Given the description of an element on the screen output the (x, y) to click on. 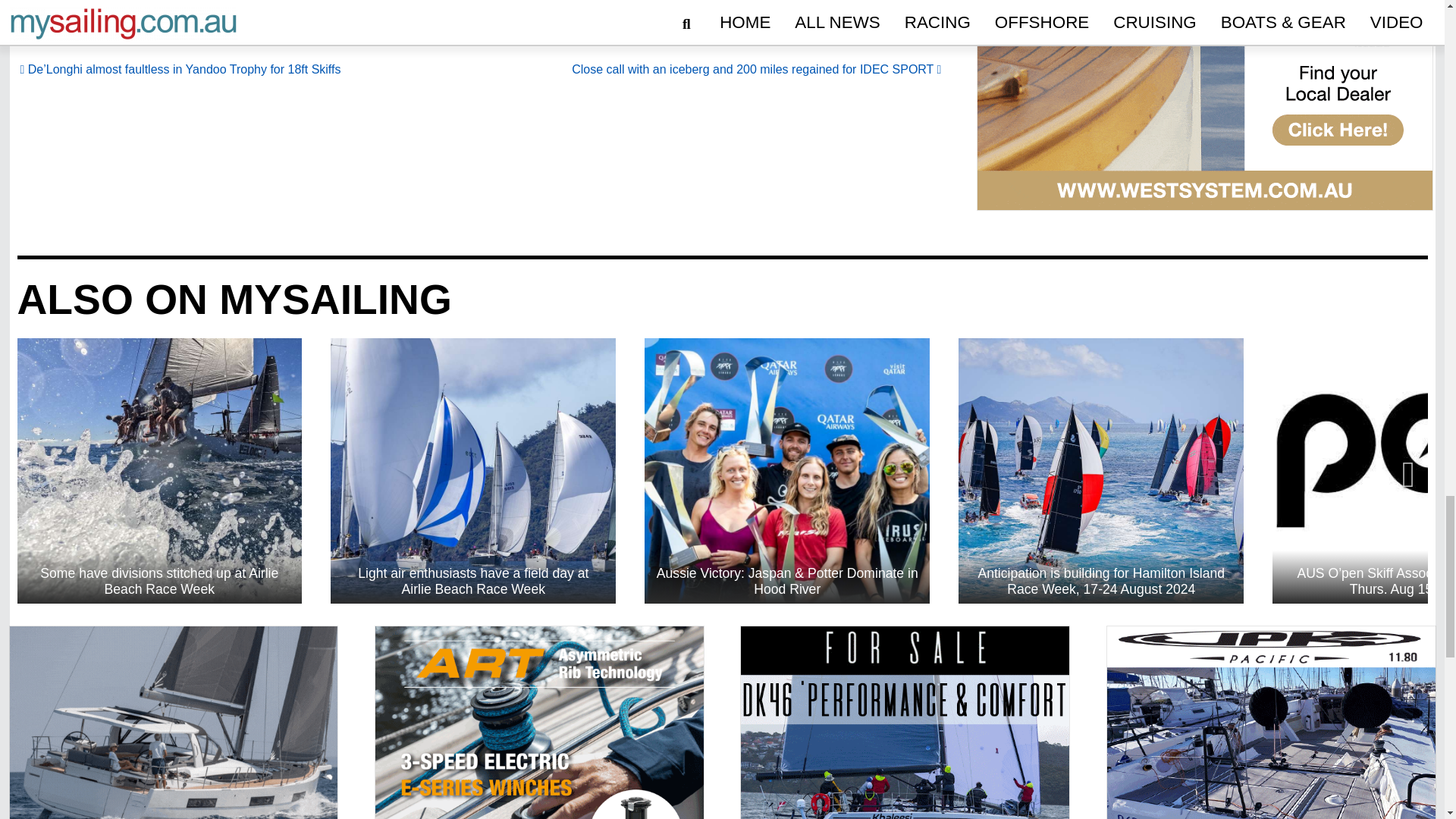
Share by Email (365, 13)
Some have divisions stitched up at Airlie Beach Race Week (158, 470)
